Given the description of an element on the screen output the (x, y) to click on. 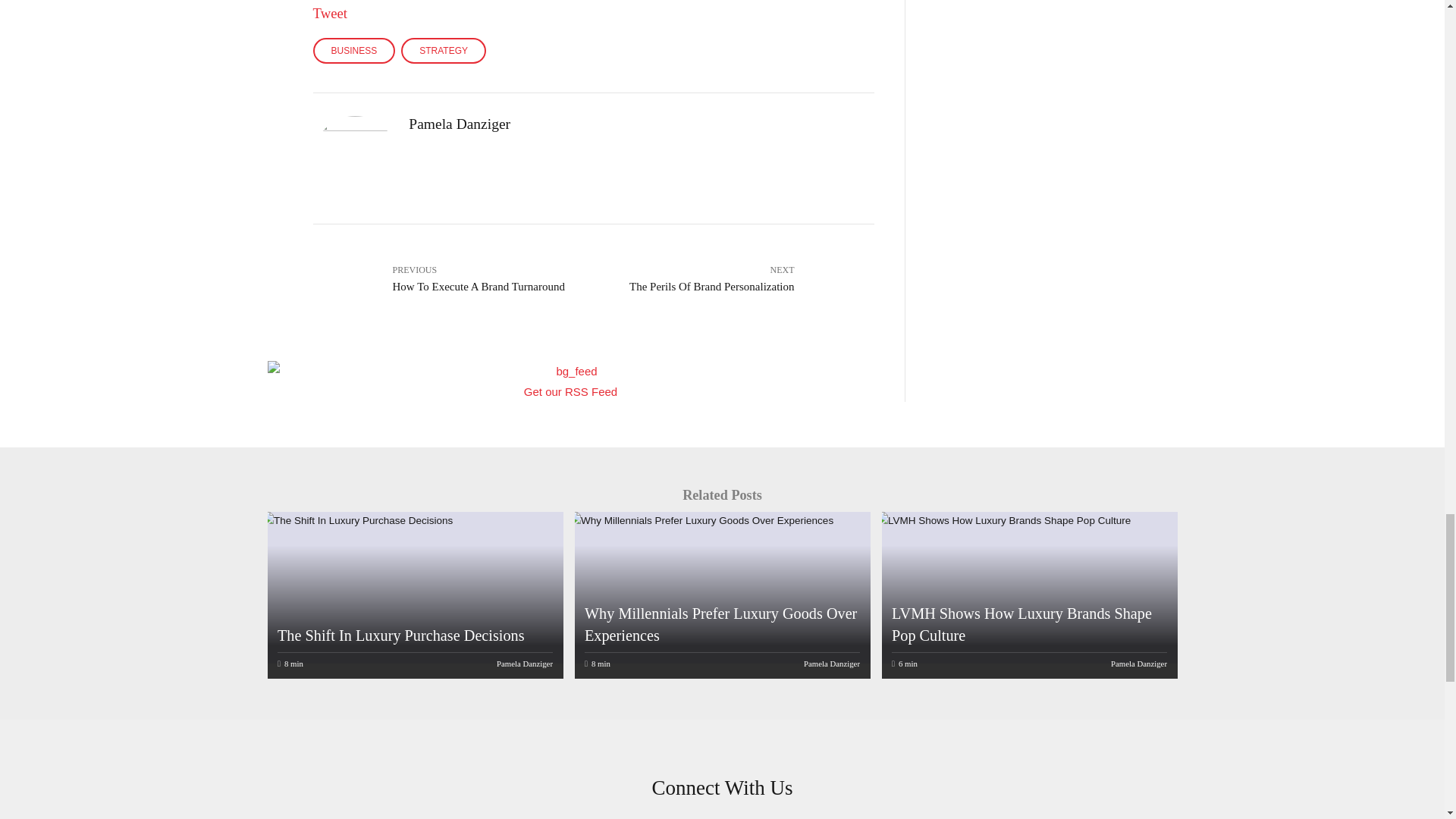
STRATEGY (443, 50)
Tweet (330, 7)
Feed (570, 391)
BUSINESS (353, 50)
Feed (569, 379)
